Given the description of an element on the screen output the (x, y) to click on. 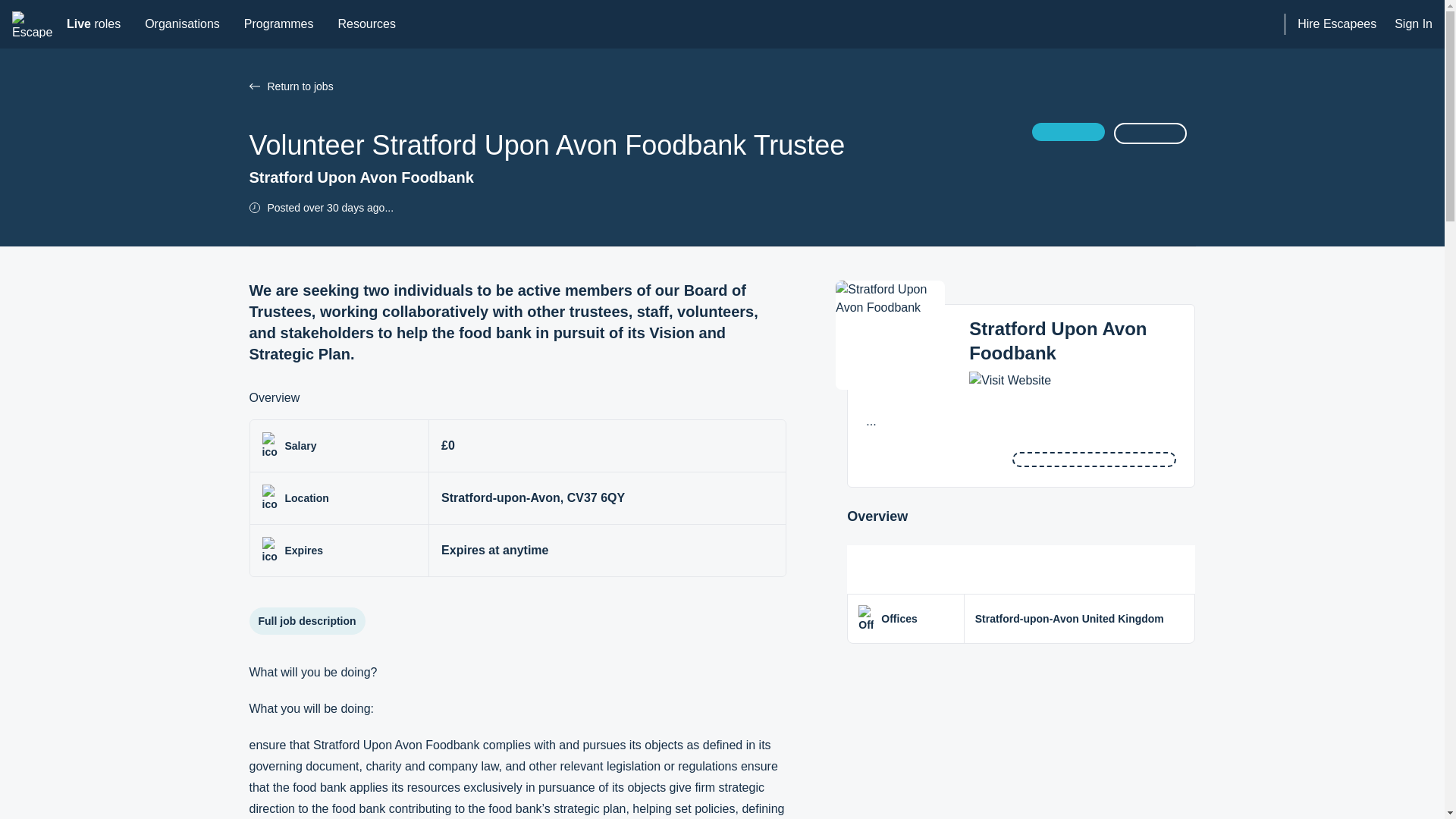
Stratford Upon Avon Foodbank (1058, 340)
Hire Escapees (93, 24)
Escape the City (1336, 24)
Programmes (33, 23)
Organisations (278, 24)
Return to jobs (181, 24)
Resources (253, 86)
Return to jobs (365, 24)
